Given the description of an element on the screen output the (x, y) to click on. 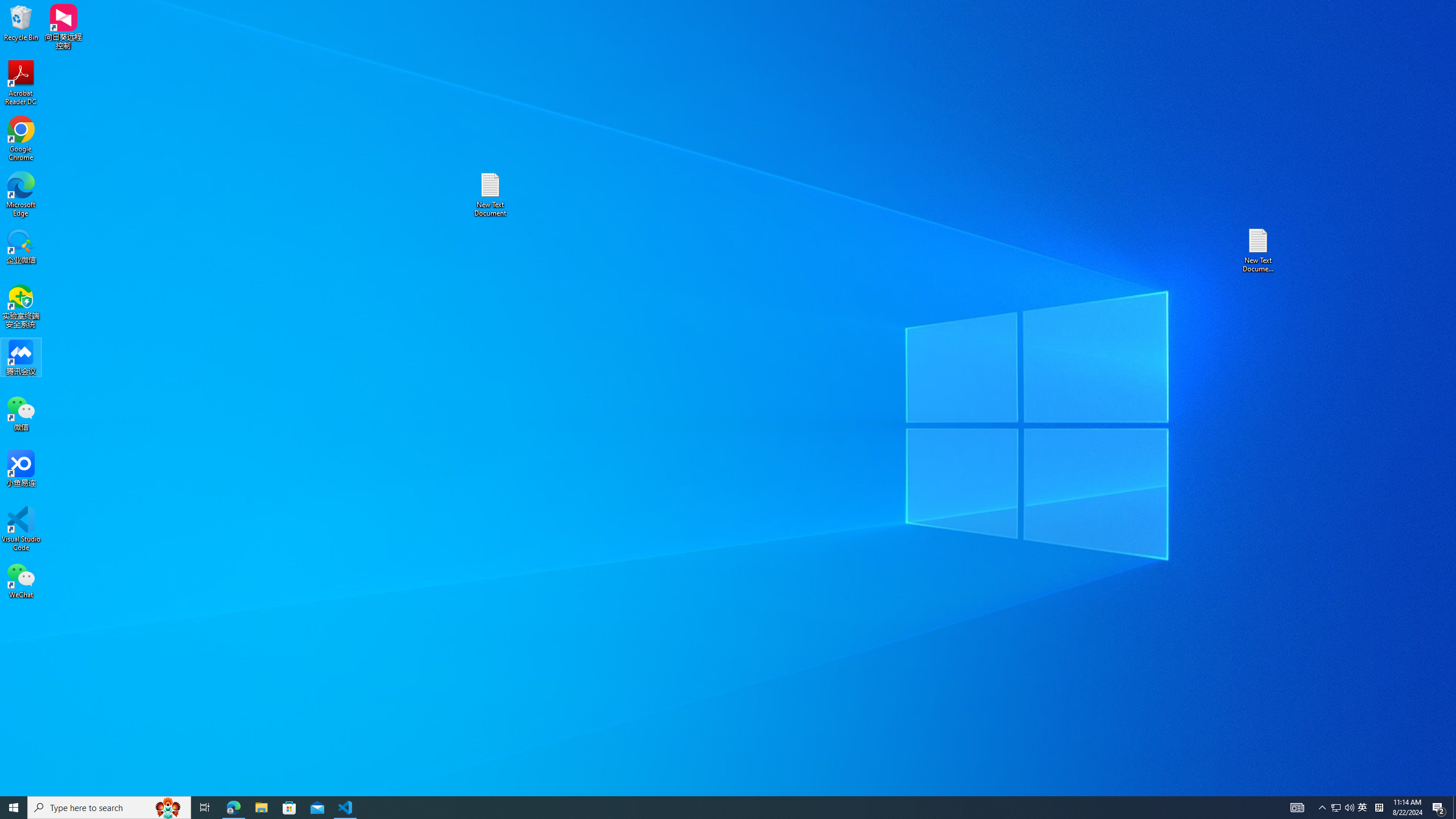
WeChat (21, 580)
New Text Document (2) (1258, 250)
